Given the description of an element on the screen output the (x, y) to click on. 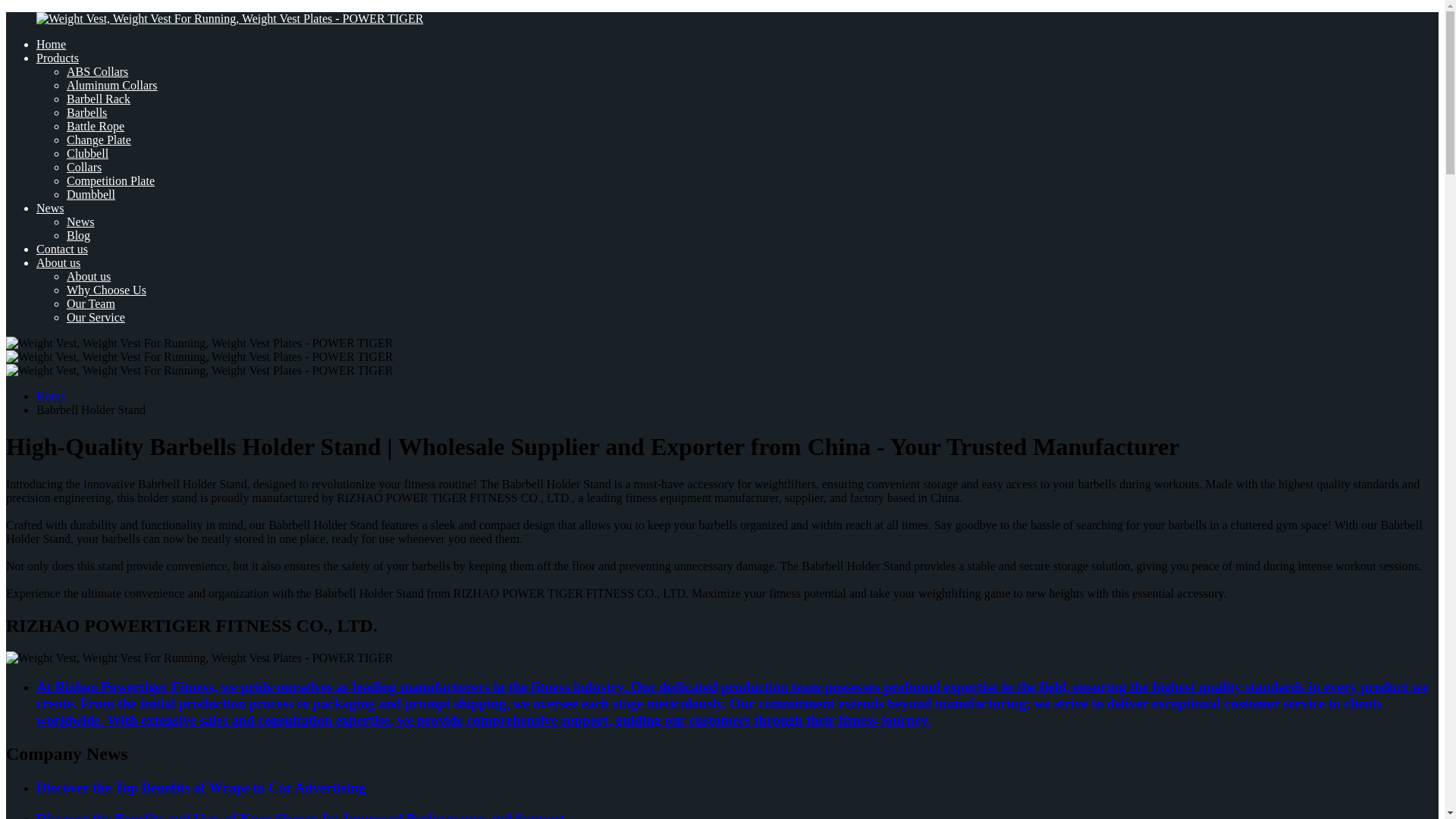
Contact us (61, 248)
Our Service (95, 317)
News (50, 207)
Collars (83, 166)
Aluminum Collars (111, 84)
News (80, 221)
Battle Rope (94, 125)
Home (50, 43)
Change Plate (98, 139)
About us (58, 262)
Dumbbell (90, 194)
Home (50, 395)
Why Choose Us (106, 289)
Competition Plate (110, 180)
Products (57, 57)
